Given the description of an element on the screen output the (x, y) to click on. 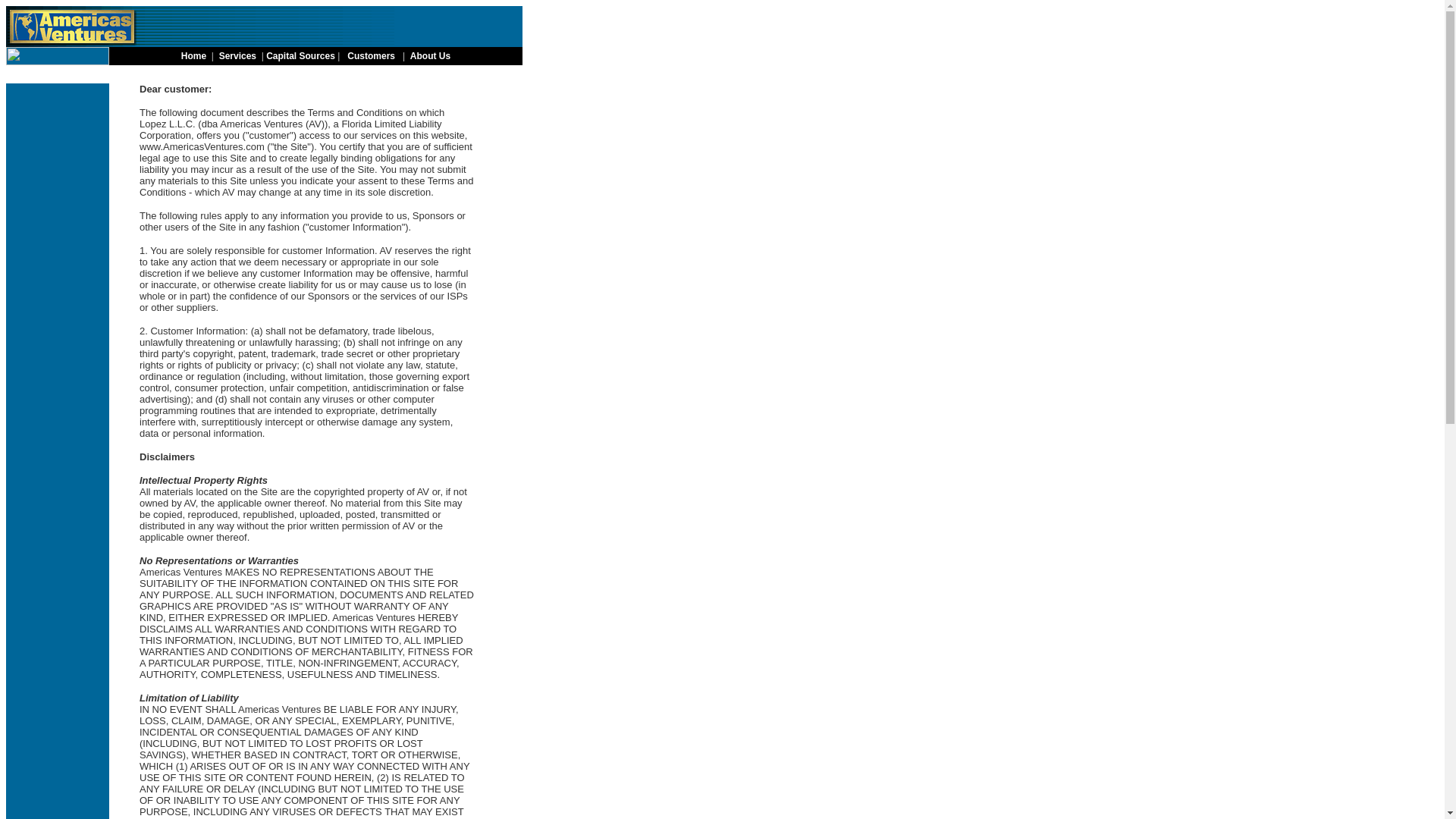
Home (193, 55)
Services (237, 55)
Customers (372, 55)
Capital Sources (300, 55)
About Us (429, 55)
